Given the description of an element on the screen output the (x, y) to click on. 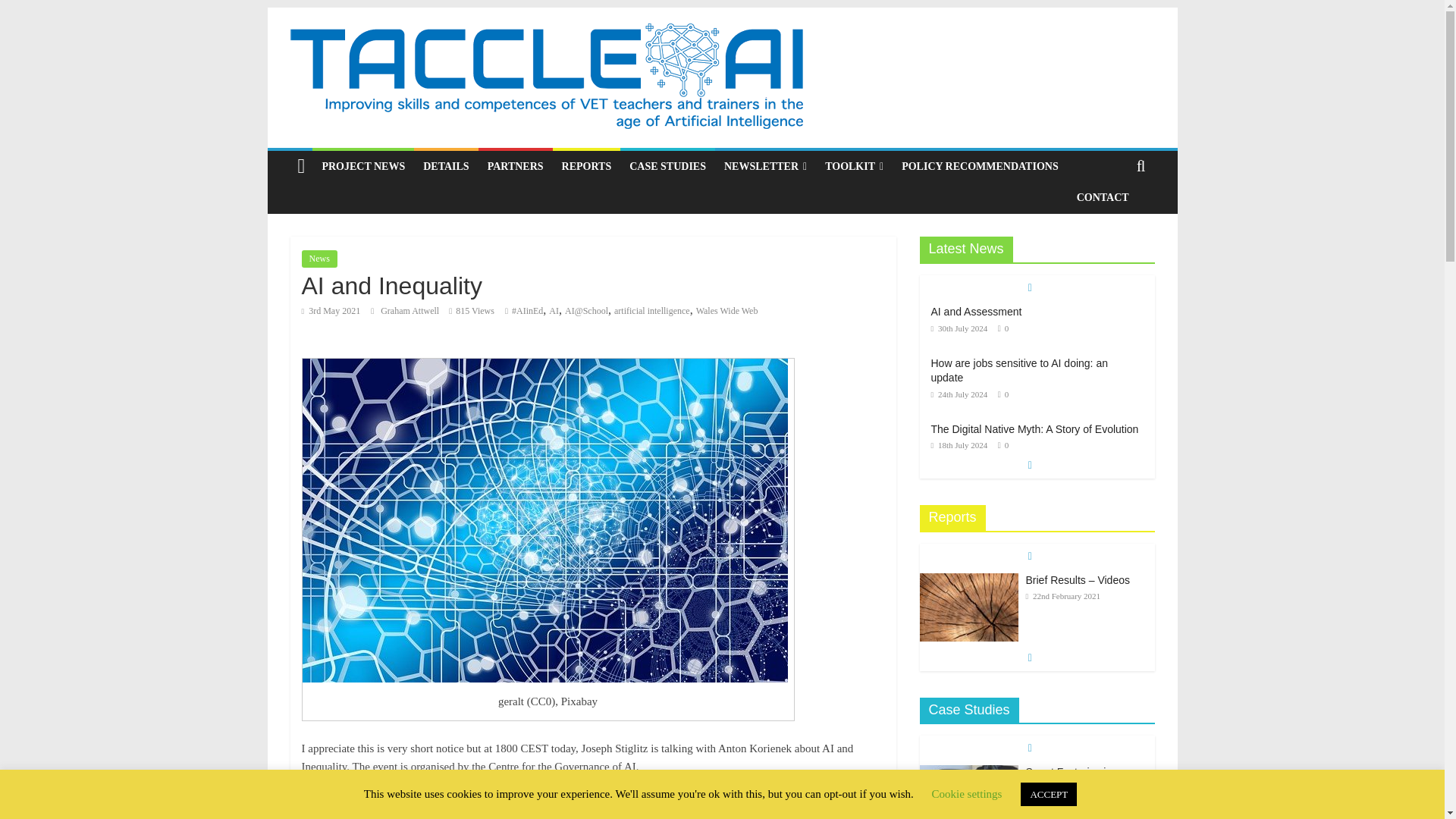
3rd May 2021 (331, 310)
14:14 (959, 393)
PARTNERS (516, 166)
webpage (375, 796)
AI and Assessment (976, 311)
DETAILS (445, 166)
The Digital Native Myth: A Story of Evolution (1034, 428)
REPORTS (587, 166)
AI (553, 310)
Wales Wide Web (726, 310)
artificial intelligence (652, 310)
News (319, 258)
30th July 2024 (959, 327)
Graham Attwell (410, 310)
15:47 (331, 310)
